Given the description of an element on the screen output the (x, y) to click on. 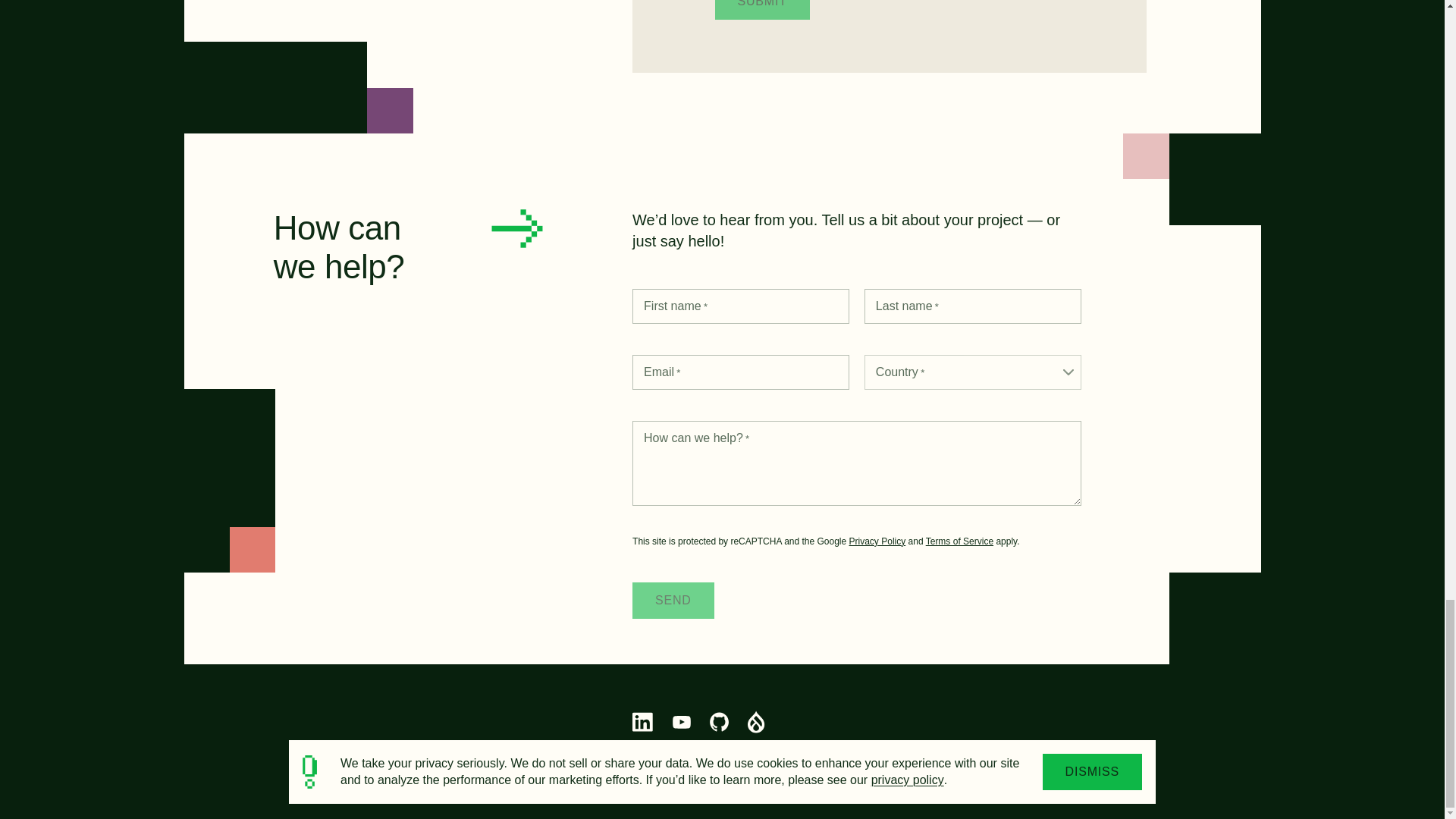
Send (672, 600)
ACCESSIBILITY STATEMENT (998, 754)
Terms of Service (959, 541)
Privacy Policy (876, 541)
Submit (761, 9)
PRIVACY POLICY (865, 754)
CAREERS (1115, 754)
Send (672, 600)
Submit (761, 9)
